Given the description of an element on the screen output the (x, y) to click on. 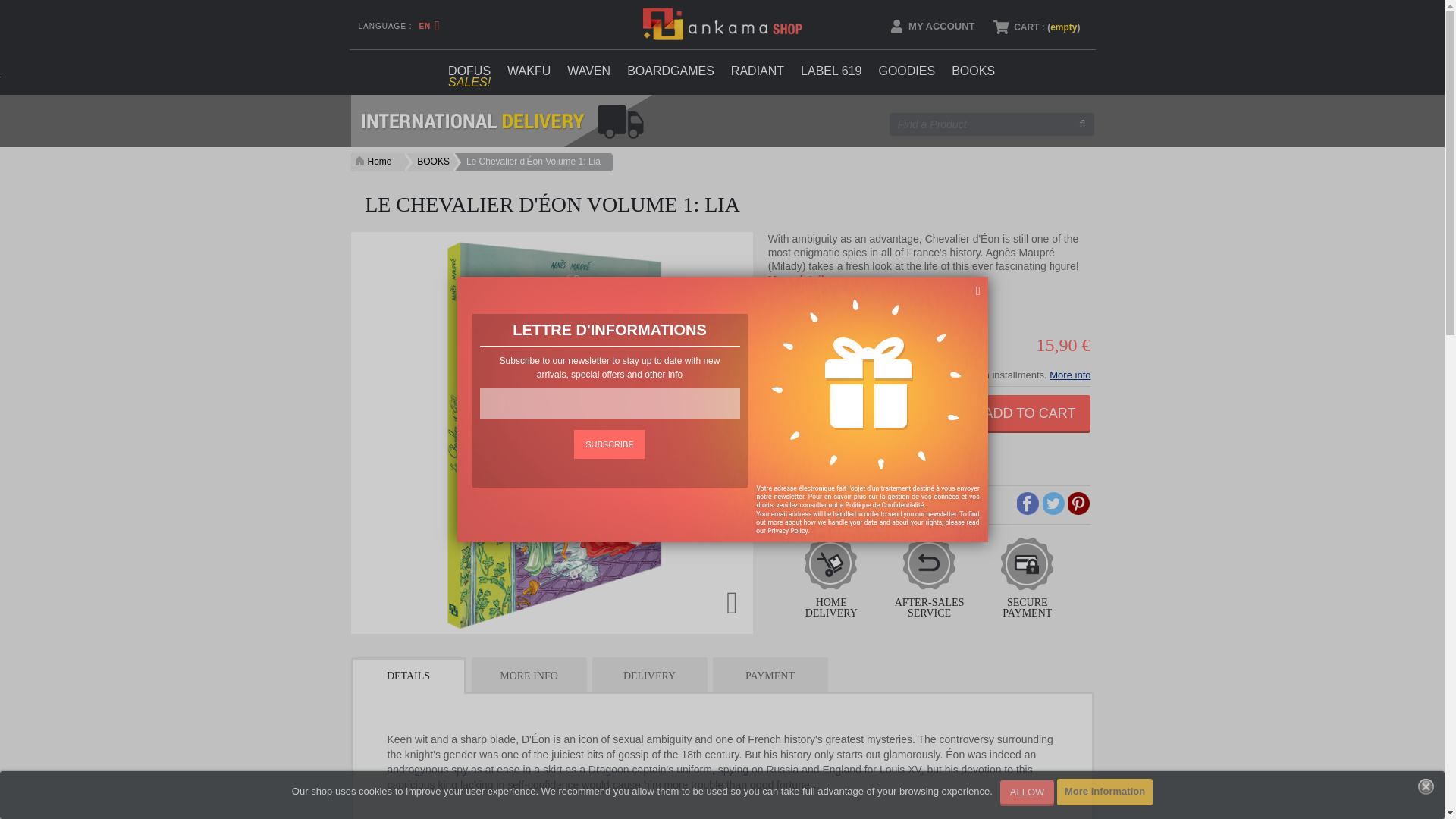
Allow (1027, 791)
1 (845, 344)
Dofus (469, 70)
SUBSCRIBE (609, 443)
View my shopping cart (1035, 26)
Ankama Shop (722, 23)
View my customer account (925, 25)
